Given the description of an element on the screen output the (x, y) to click on. 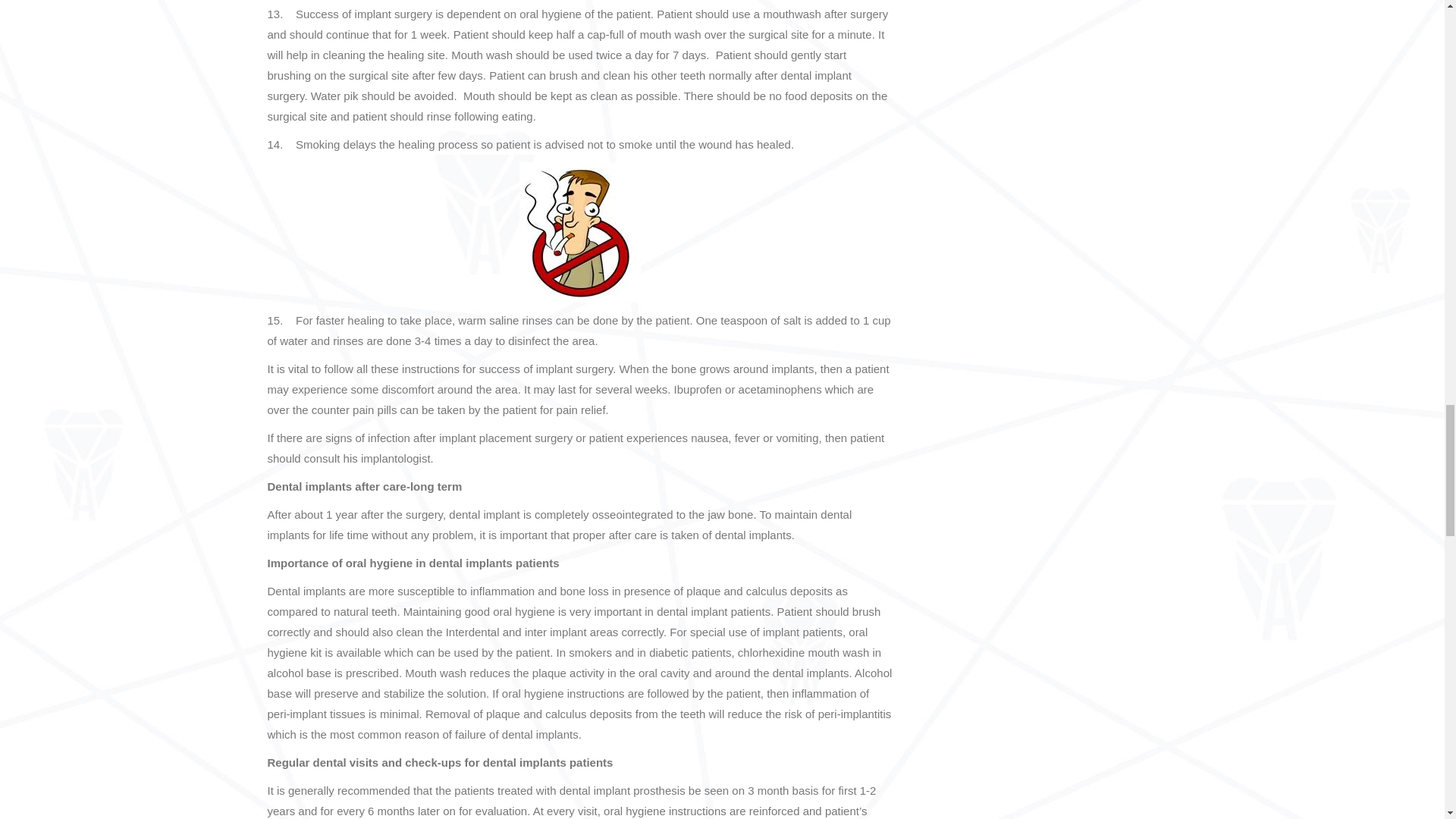
somking.JPG (579, 232)
